Given the description of an element on the screen output the (x, y) to click on. 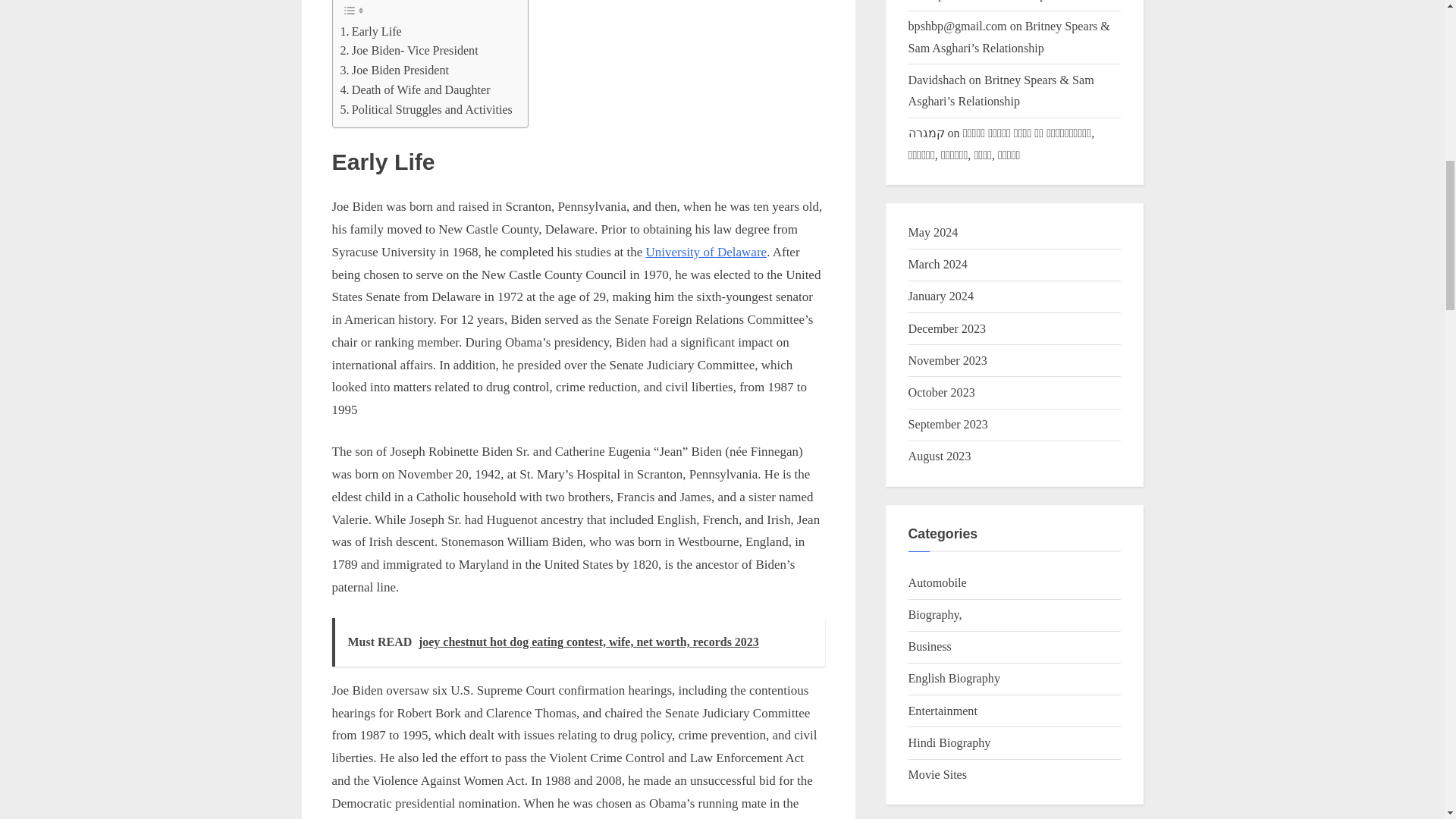
Political Struggles and Activities (425, 109)
Death of Wife and Daughter (414, 89)
Joe Biden President (393, 70)
Joe Biden- Vice President (408, 50)
Death of Wife and Daughter (414, 89)
Joe Biden President (393, 70)
Early Life (370, 31)
Early Life (370, 31)
Joe Biden- Vice President (408, 50)
